Given the description of an element on the screen output the (x, y) to click on. 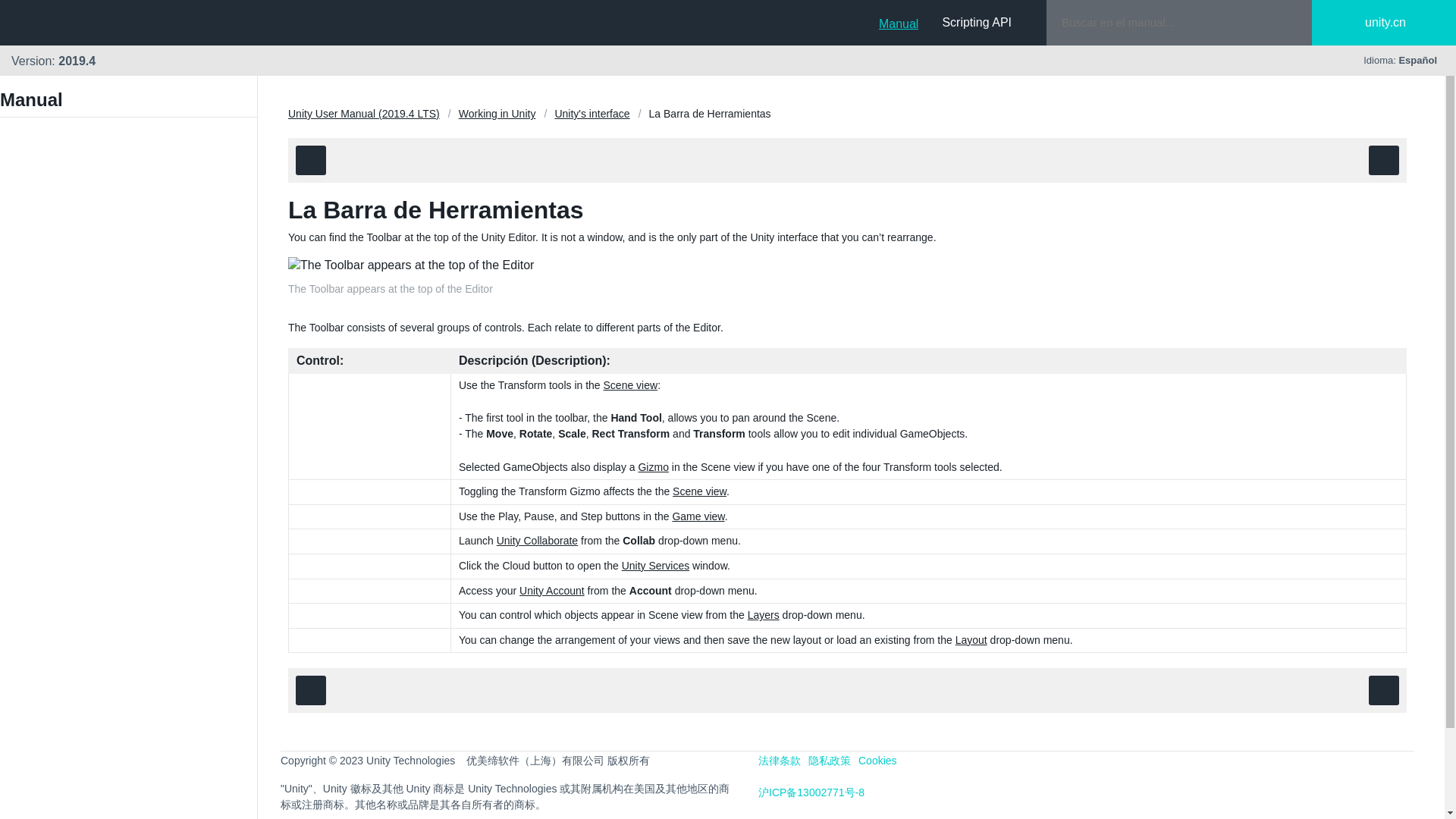
Scripting API (976, 22)
unity.cn (1397, 22)
Manual (898, 22)
